Given the description of an element on the screen output the (x, y) to click on. 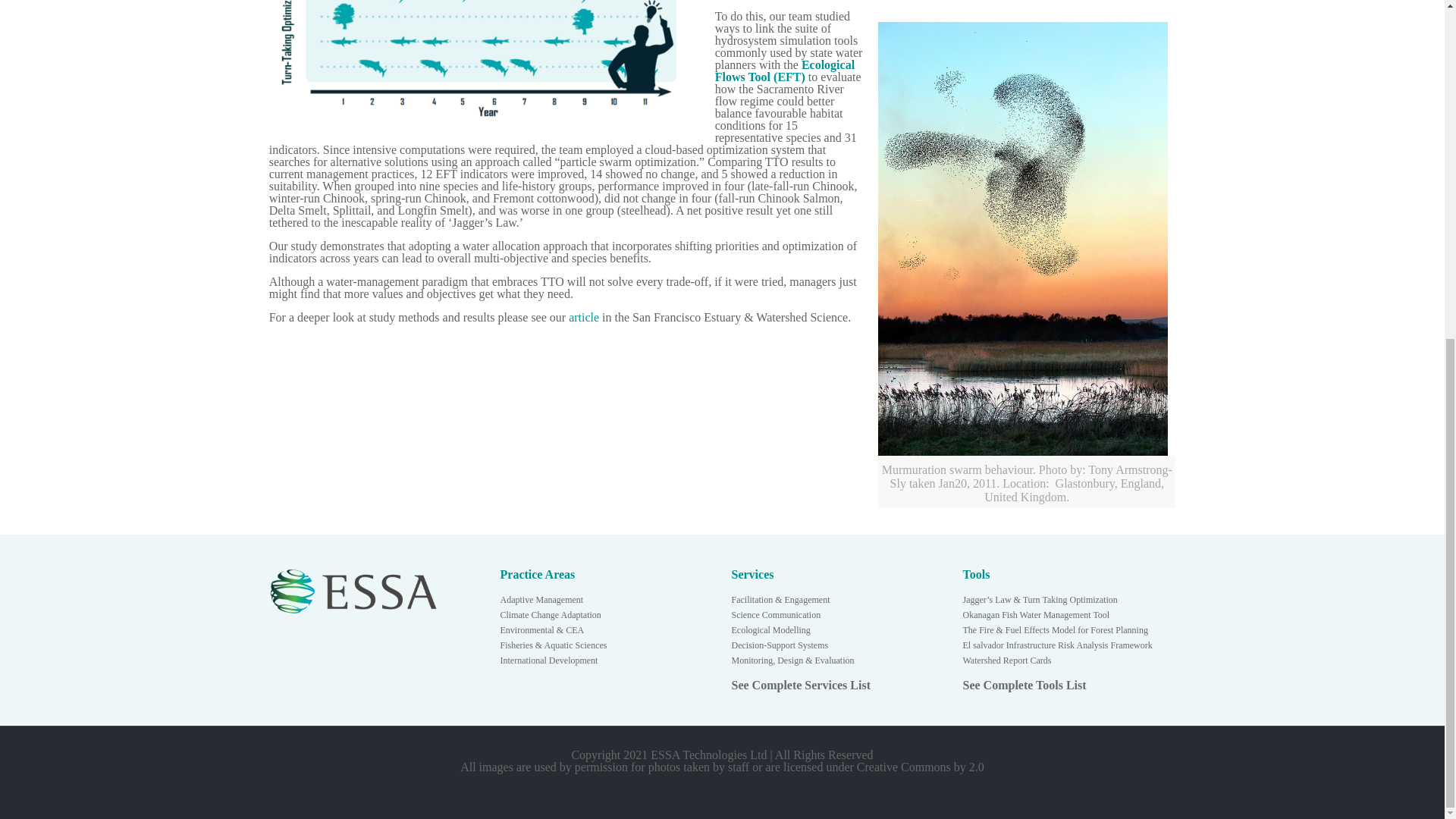
article (583, 317)
EFT (788, 76)
International Development (549, 660)
Climate Change Adaptation (550, 614)
Adaptive Management (541, 599)
